Given the description of an element on the screen output the (x, y) to click on. 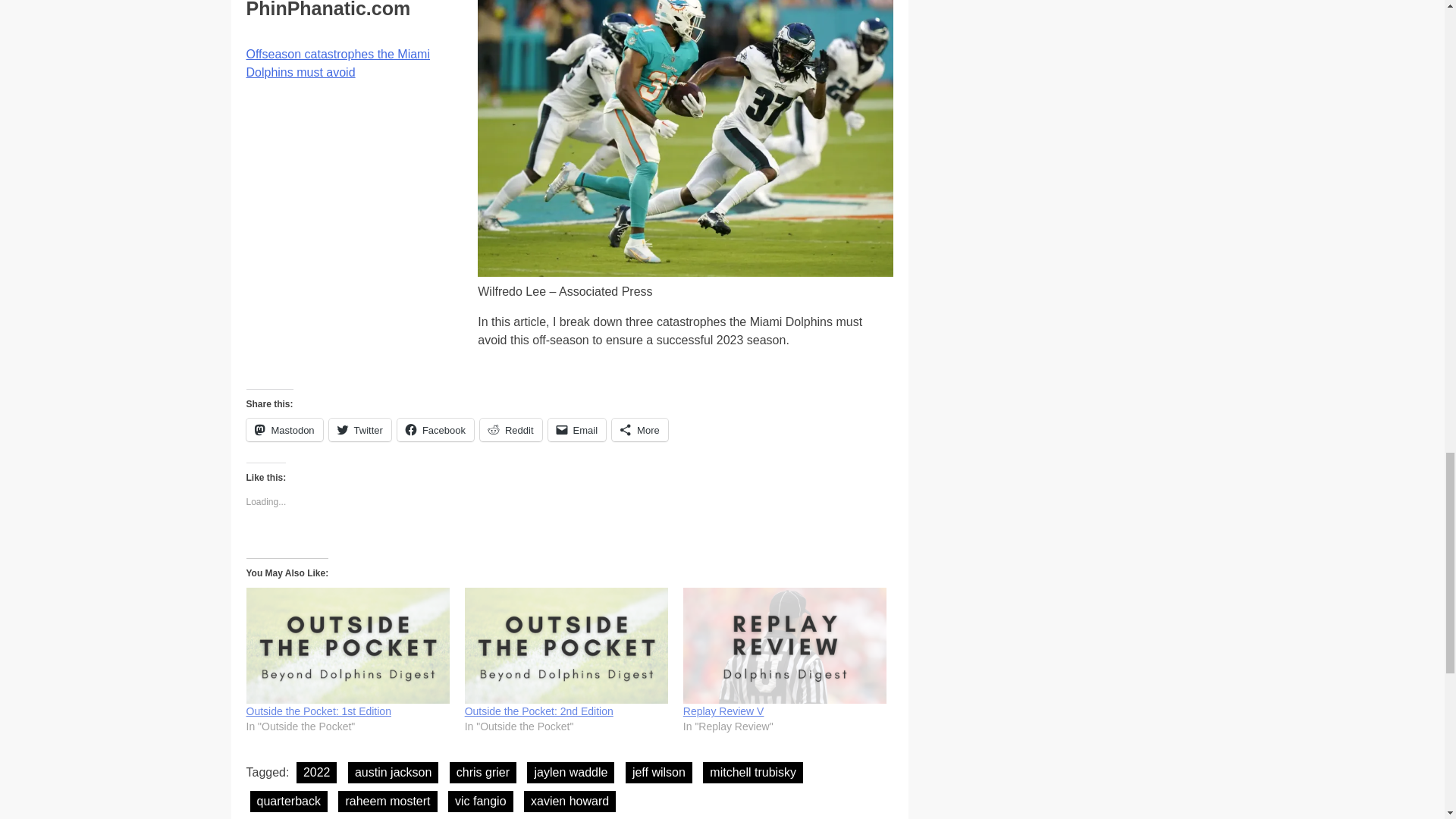
Outside the Pocket: 1st Edition (347, 645)
Click to share on Reddit (510, 429)
Click to share on Mastodon (283, 429)
Click to email a link to a friend (577, 429)
Click to share on Twitter (360, 429)
Offseason catastrophes the Miami Dolphins must avoid (337, 62)
Outside the Pocket: 1st Edition (318, 711)
Click to share on Facebook (435, 429)
